Given the description of an element on the screen output the (x, y) to click on. 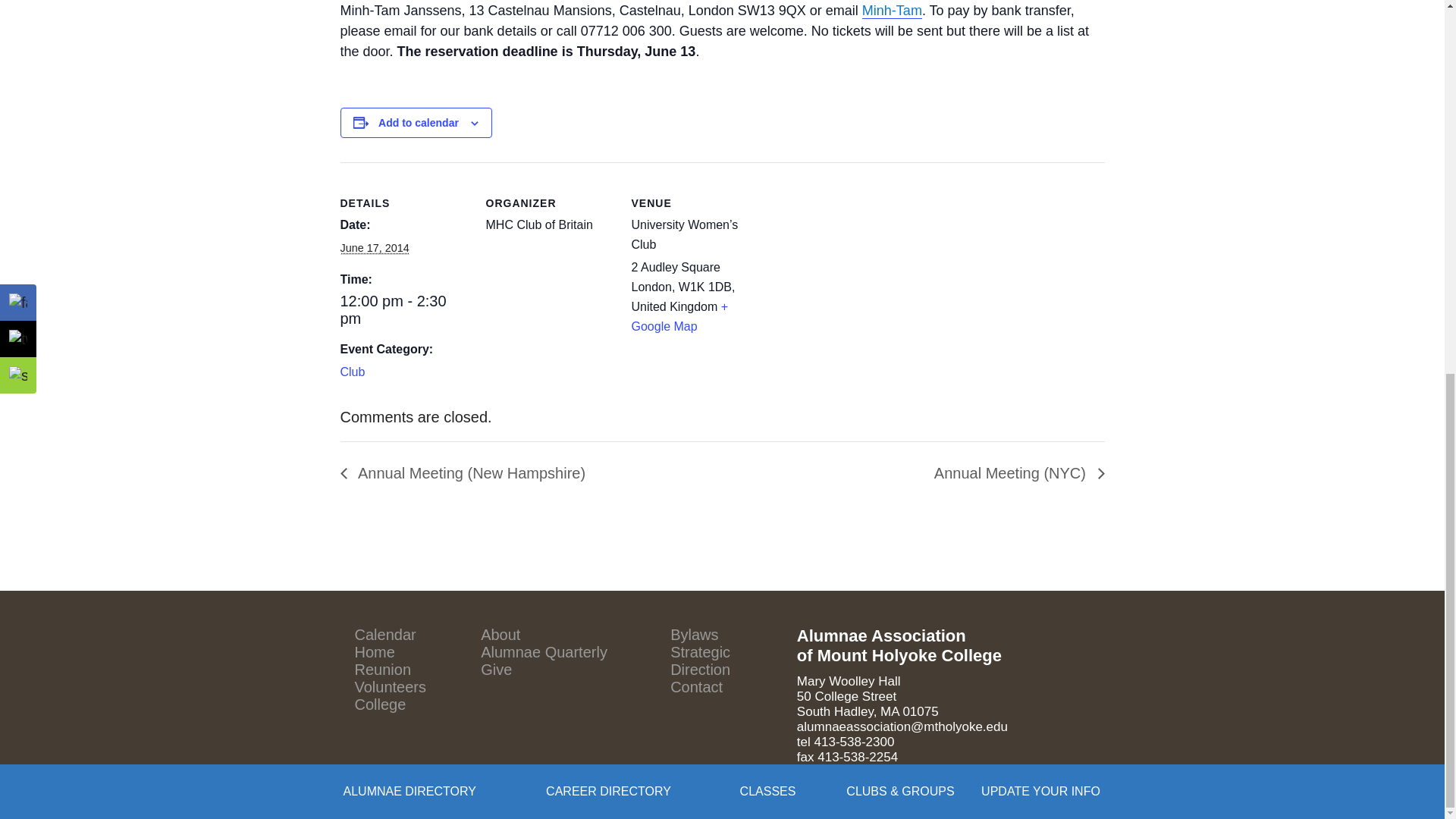
2014-06-17 (374, 247)
Click to view a Google Map (679, 316)
2014-06-17 (403, 309)
